Given the description of an element on the screen output the (x, y) to click on. 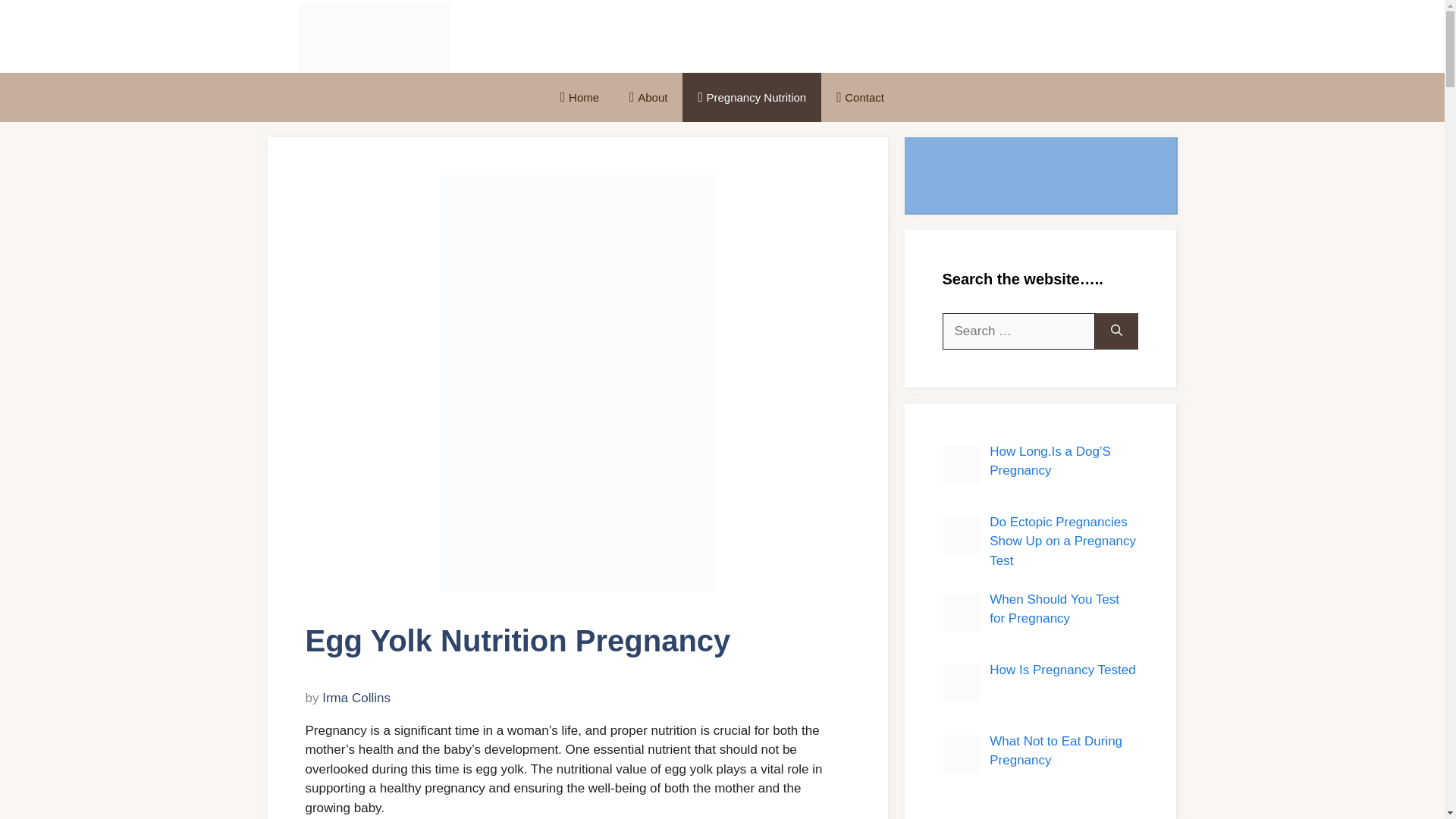
Irma Collins (355, 698)
Contact (860, 97)
View all posts by Irma Collins (355, 698)
About (648, 97)
Home (579, 97)
Pregnancy Nutrition (751, 97)
Egg Yolk Nutrition Pregnancy (577, 383)
